Given the description of an element on the screen output the (x, y) to click on. 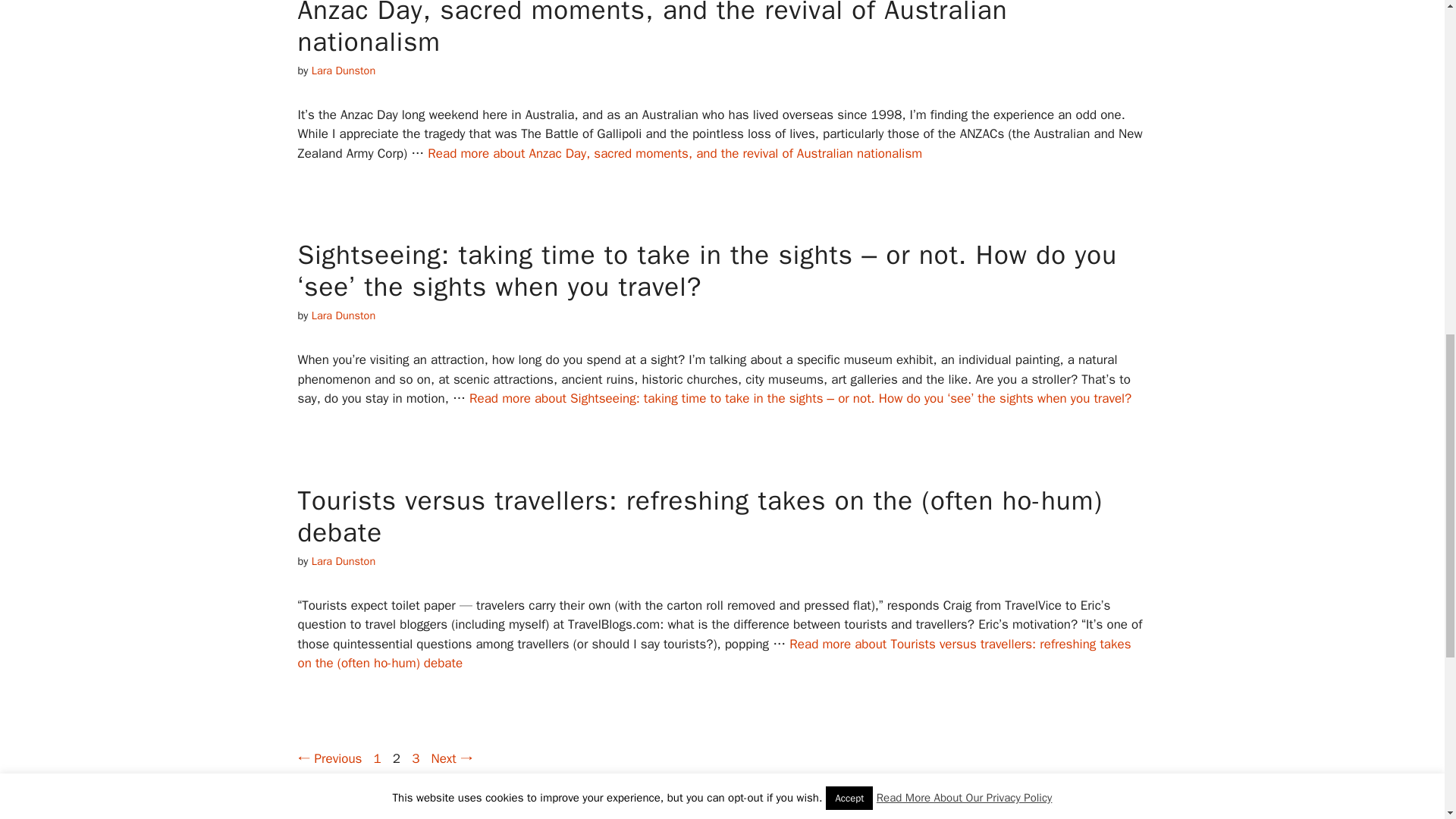
View all posts by Lara Dunston (343, 69)
Lara Dunston (343, 561)
Lara Dunston (377, 758)
View all posts by Lara Dunston (343, 69)
Lara Dunston (343, 561)
View all posts by Lara Dunston (343, 315)
